Given the description of an element on the screen output the (x, y) to click on. 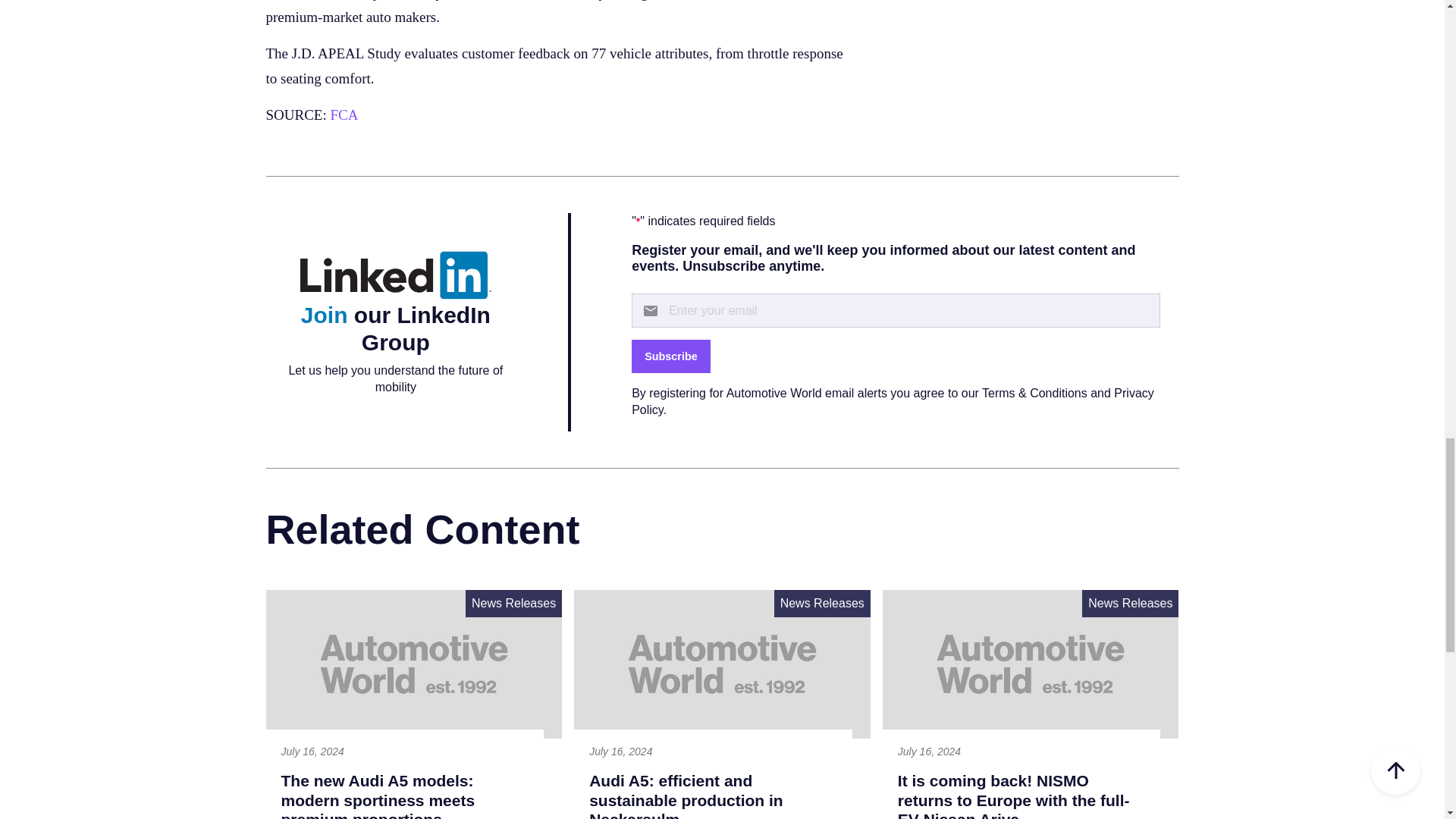
Subscribe (670, 356)
